Given the description of an element on the screen output the (x, y) to click on. 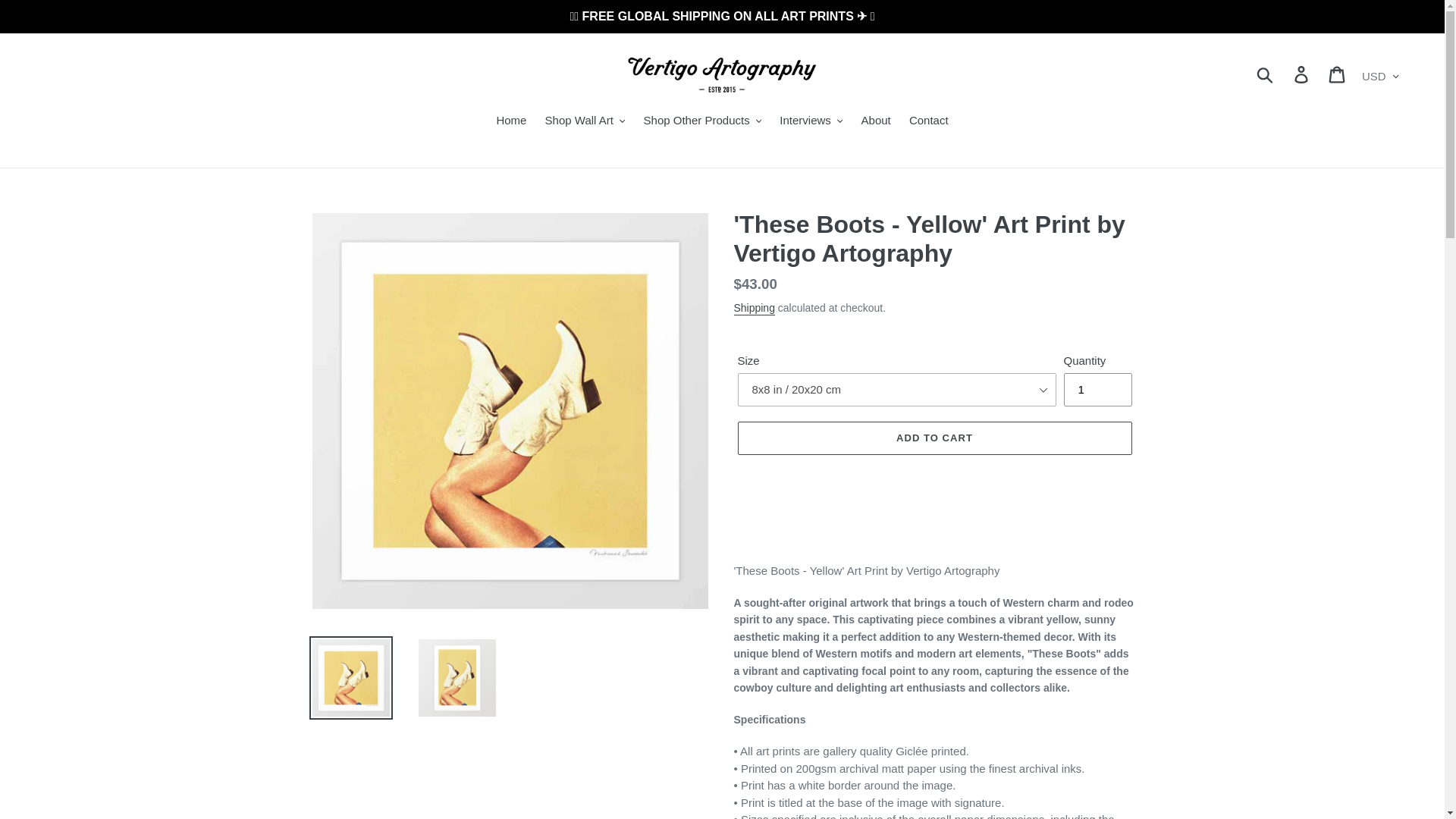
Log in (1302, 74)
Cart (1337, 74)
1 (1096, 389)
Home (510, 121)
Submit (1265, 73)
